Given the description of an element on the screen output the (x, y) to click on. 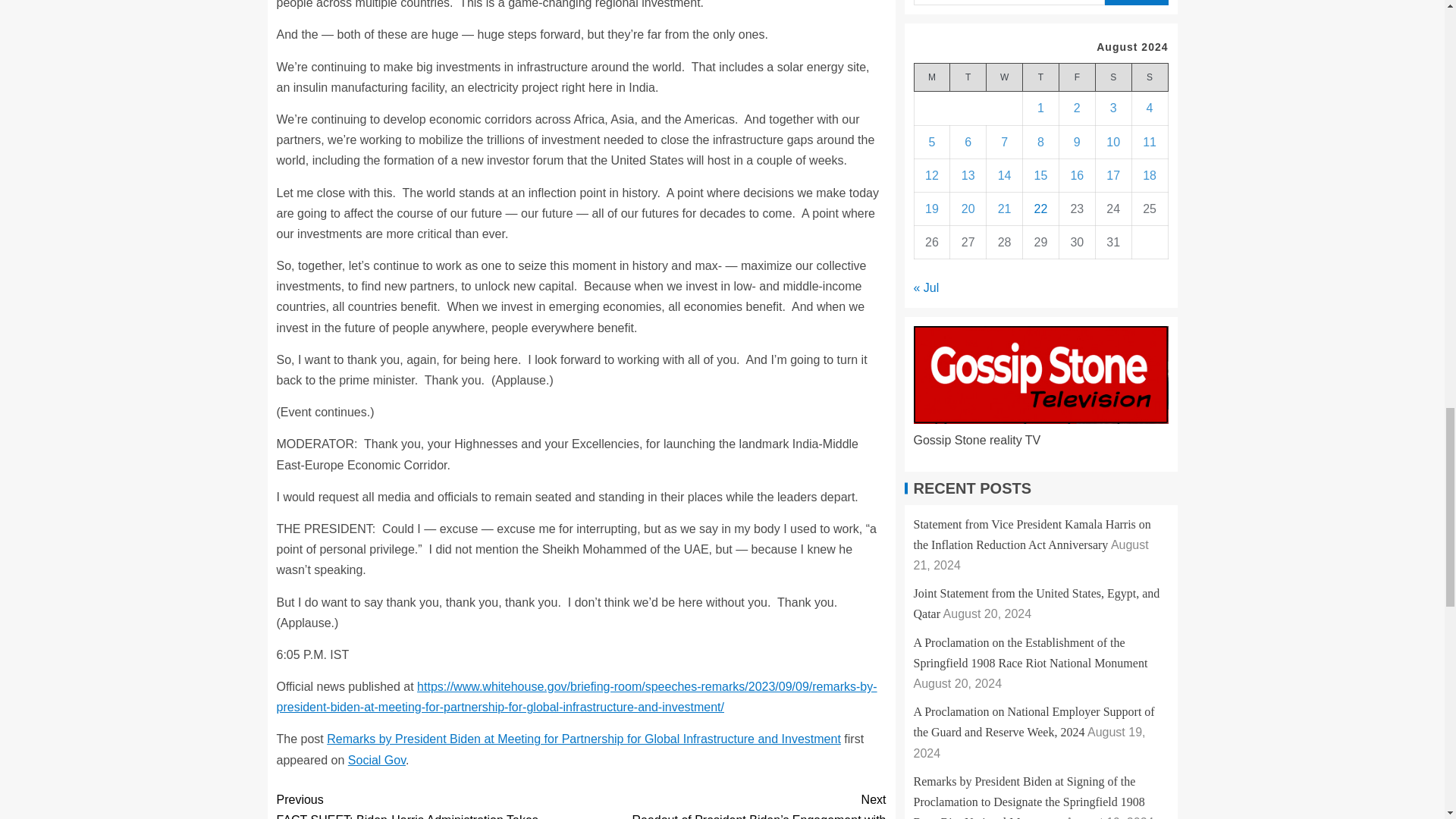
Social Gov (376, 759)
